Given the description of an element on the screen output the (x, y) to click on. 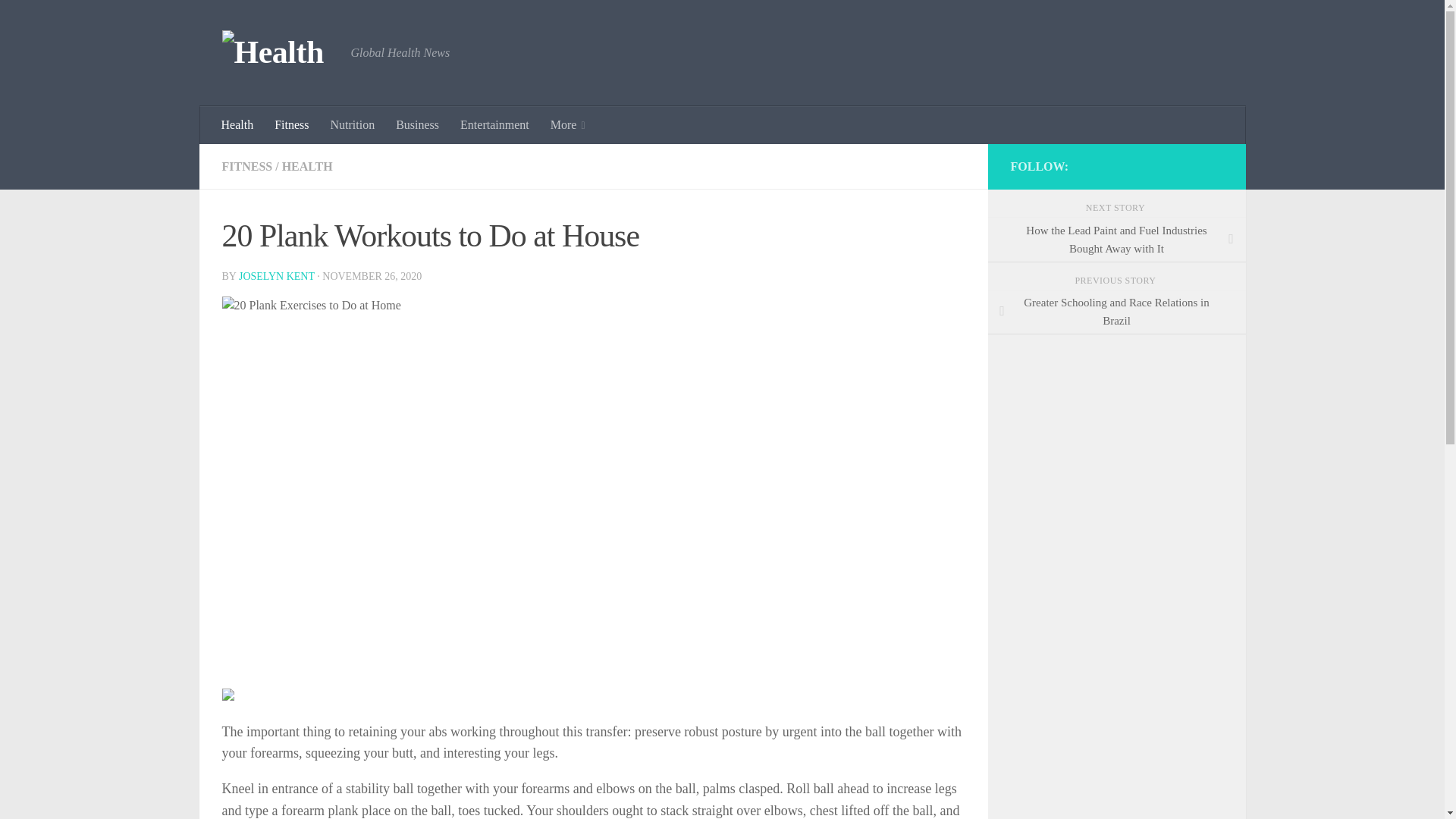
HEALTH (307, 165)
Nutrition (352, 125)
Business (417, 125)
Skip to content (59, 20)
Posts by Joselyn Kent (276, 276)
Greater Schooling and Race Relations in Brazil (1115, 311)
FITNESS (246, 165)
Health (237, 125)
How the Lead Paint and Fuel Industries Bought Away with It (1115, 239)
Entertainment (494, 125)
